Given the description of an element on the screen output the (x, y) to click on. 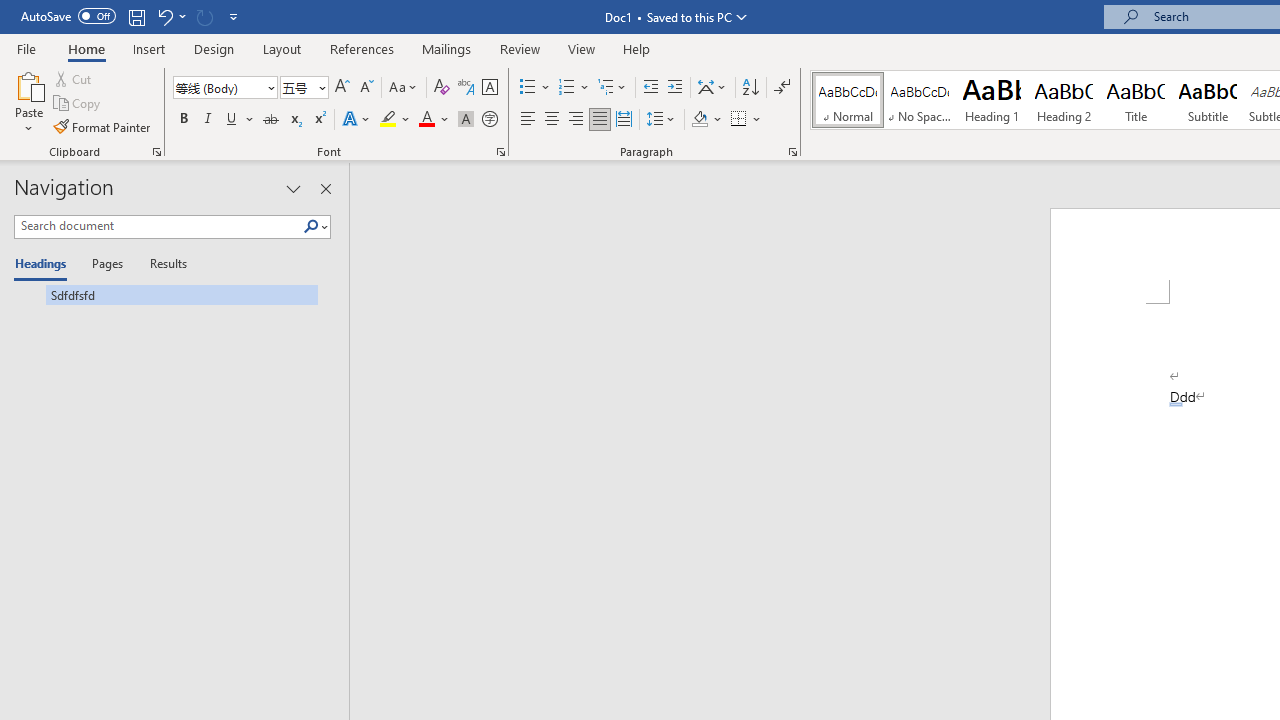
Justify (599, 119)
Cut (73, 78)
Text Highlight Color Yellow (388, 119)
Can't Repeat (204, 15)
Phonetic Guide... (465, 87)
Format Painter (103, 126)
Design (214, 48)
Font (218, 87)
Increase Indent (675, 87)
Font... (500, 151)
Borders (739, 119)
Numbering (566, 87)
Customize Quick Access Toolbar (234, 15)
Line and Paragraph Spacing (661, 119)
